Given the description of an element on the screen output the (x, y) to click on. 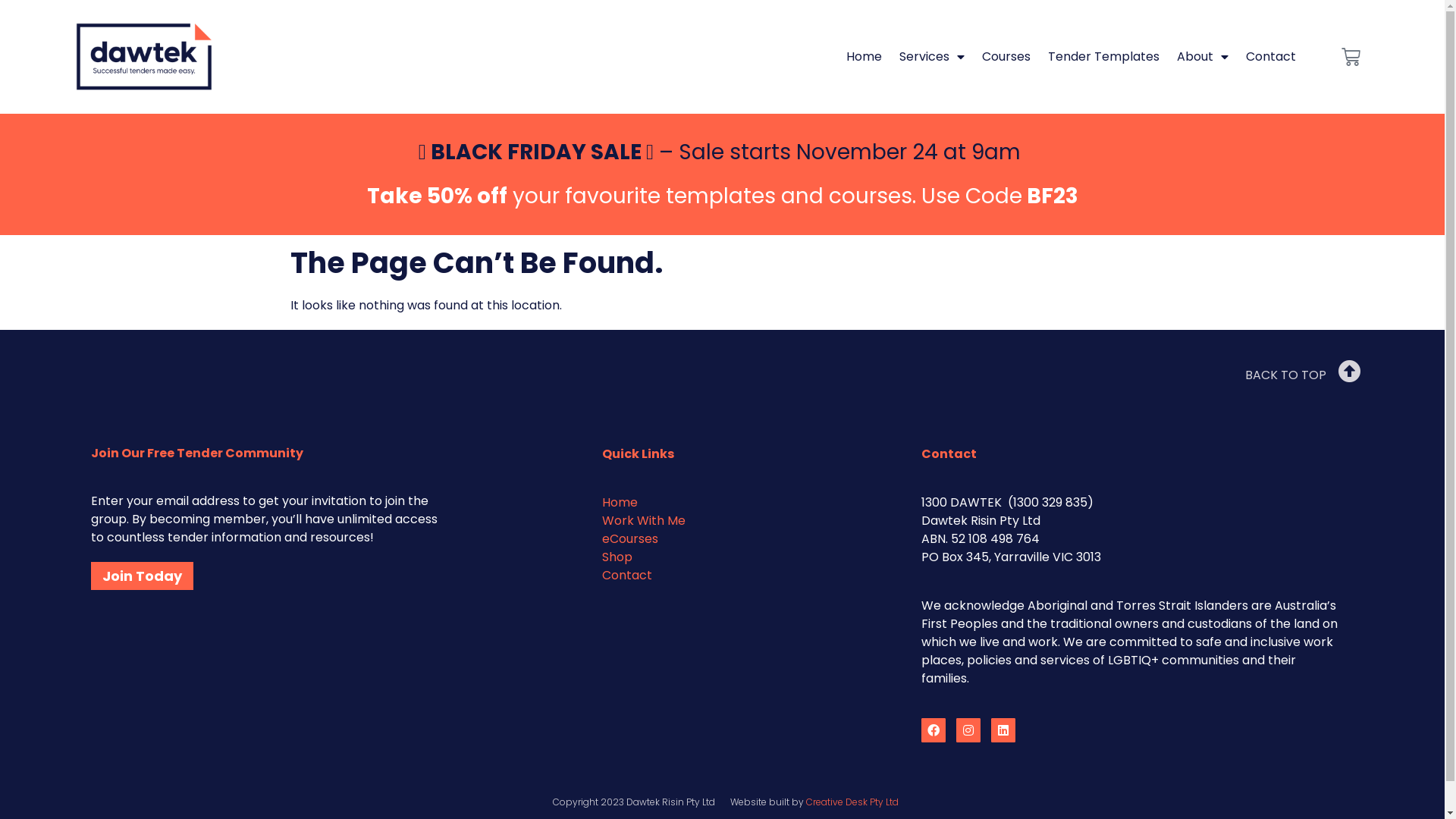
Join Today Element type: text (142, 575)
Tender Templates Element type: text (1103, 56)
BACK TO TOP Element type: text (1285, 374)
Contact Element type: text (1270, 56)
Services Element type: text (931, 56)
Home Element type: text (619, 502)
Work With Me Element type: text (643, 520)
eCourses Element type: text (630, 538)
About Element type: text (1202, 56)
Shop Element type: text (617, 556)
Contact Element type: text (627, 574)
Courses Element type: text (1005, 56)
Creative Desk Pty Ltd Element type: text (851, 801)
Home Element type: text (863, 56)
